Given the description of an element on the screen output the (x, y) to click on. 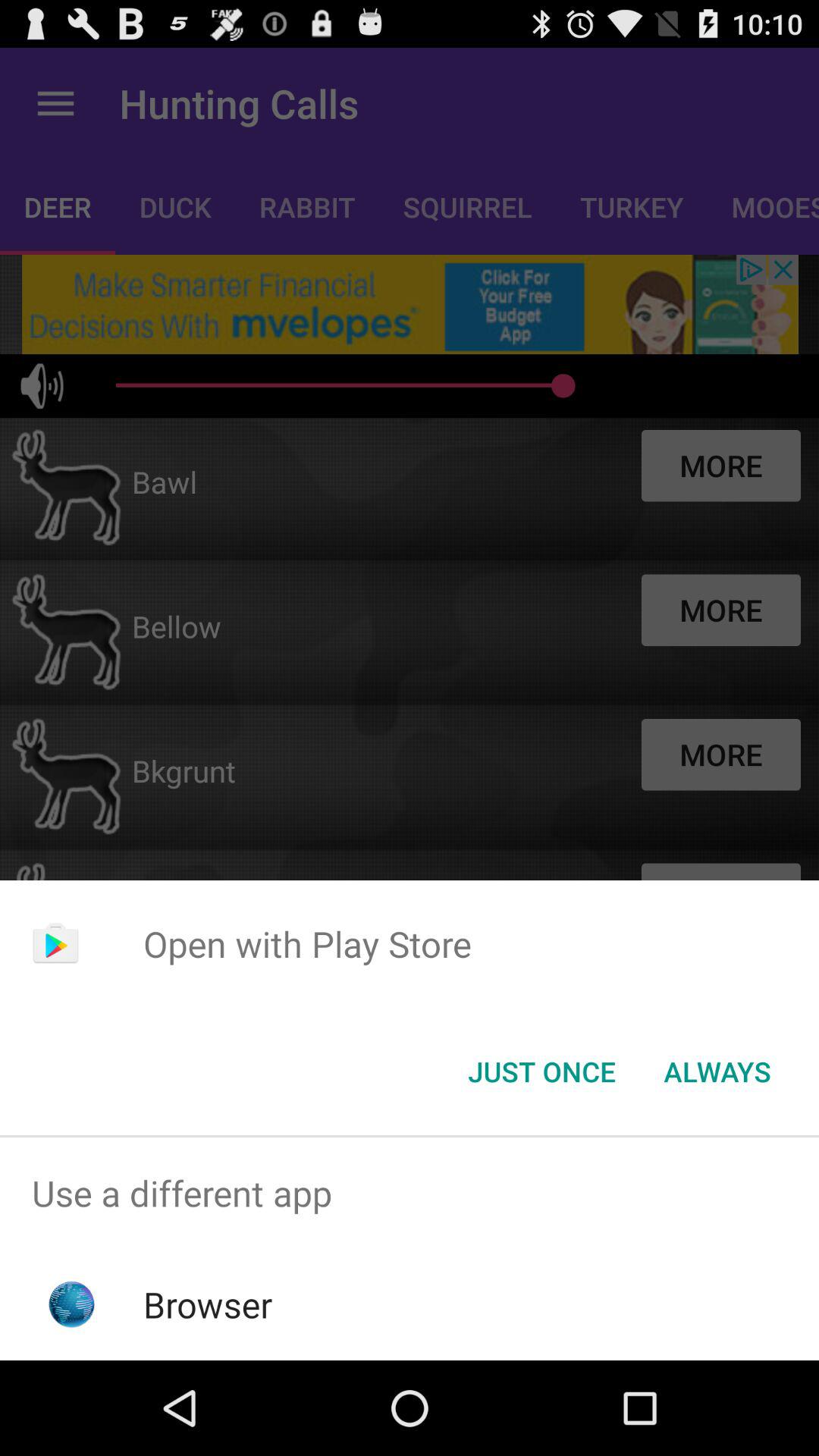
open the icon at the bottom right corner (717, 1071)
